Given the description of an element on the screen output the (x, y) to click on. 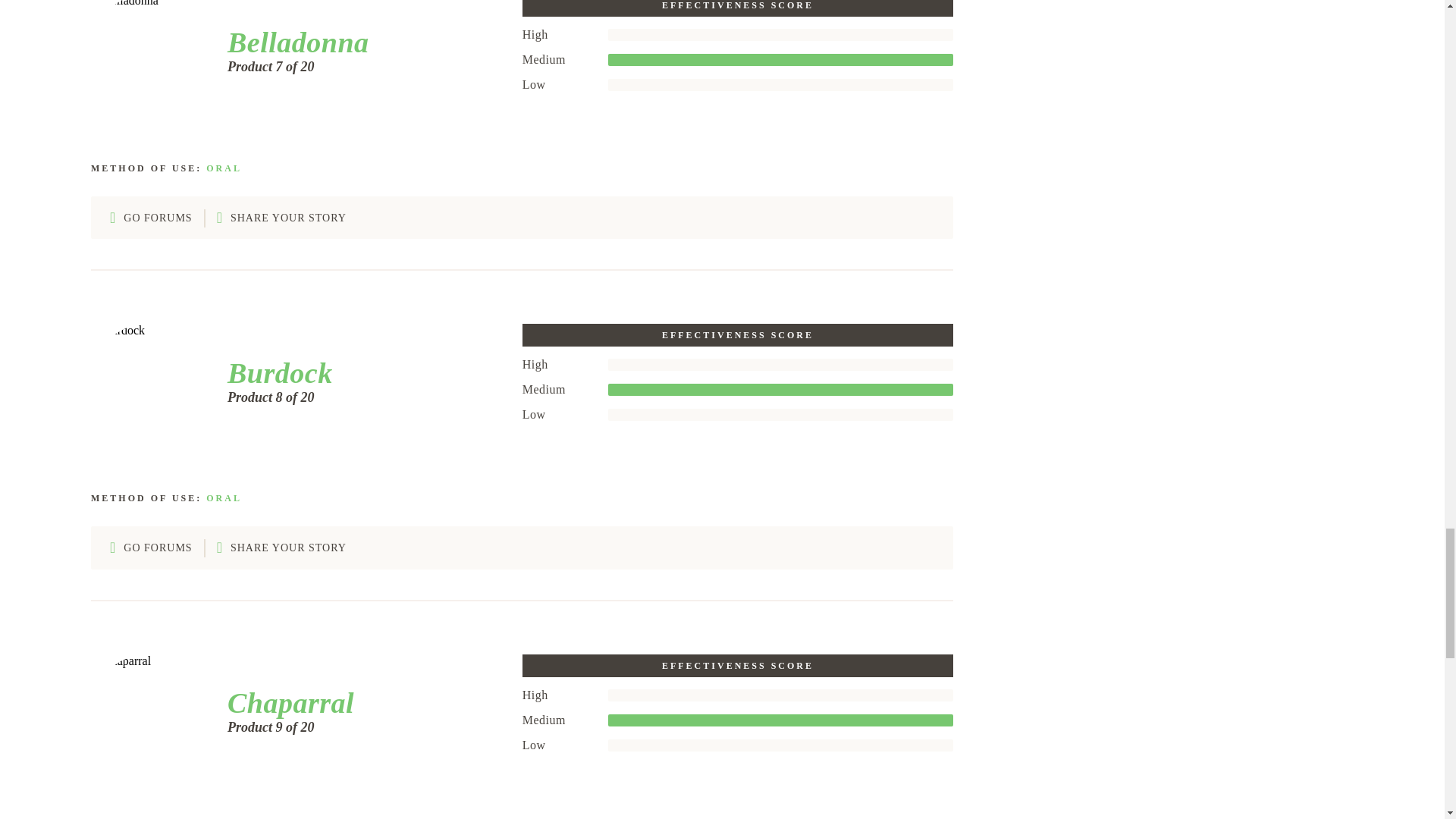
Chaparral (285, 702)
Burdock (274, 372)
GO FORUMS (151, 218)
SHARE YOUR STORY (281, 218)
SHARE YOUR STORY (281, 547)
Belladonna (292, 41)
GO FORUMS (151, 547)
